Given the description of an element on the screen output the (x, y) to click on. 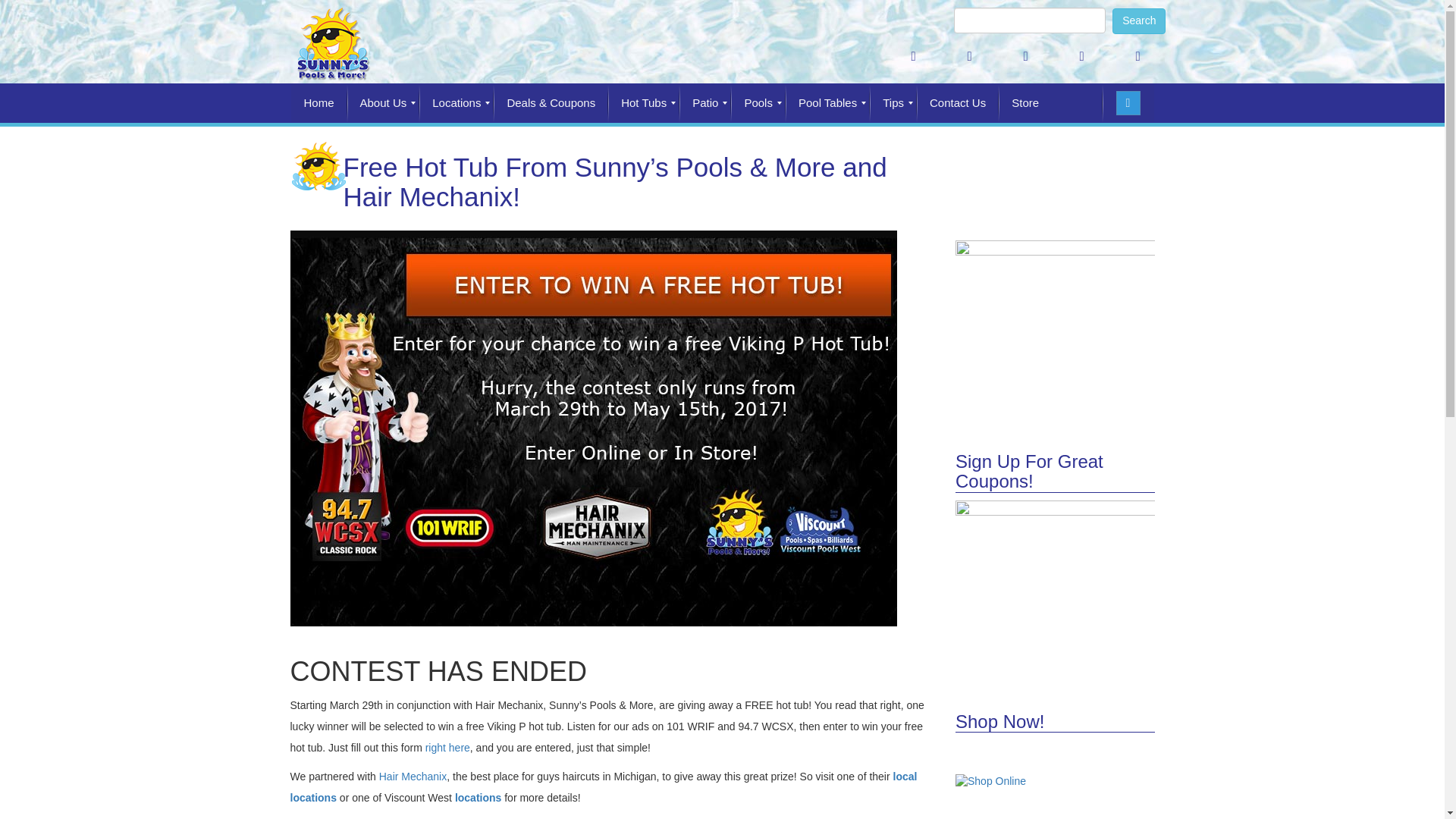
About Us (383, 103)
Search (1127, 103)
Locations (456, 103)
About Us (383, 103)
Search (1139, 21)
Patio (704, 103)
Hot Tubs (643, 103)
Pools (758, 103)
Home (319, 103)
Search (1139, 21)
Locations (456, 103)
Sunny's Pools and More (330, 41)
Hot Tubs (643, 103)
Home (319, 103)
